Given the description of an element on the screen output the (x, y) to click on. 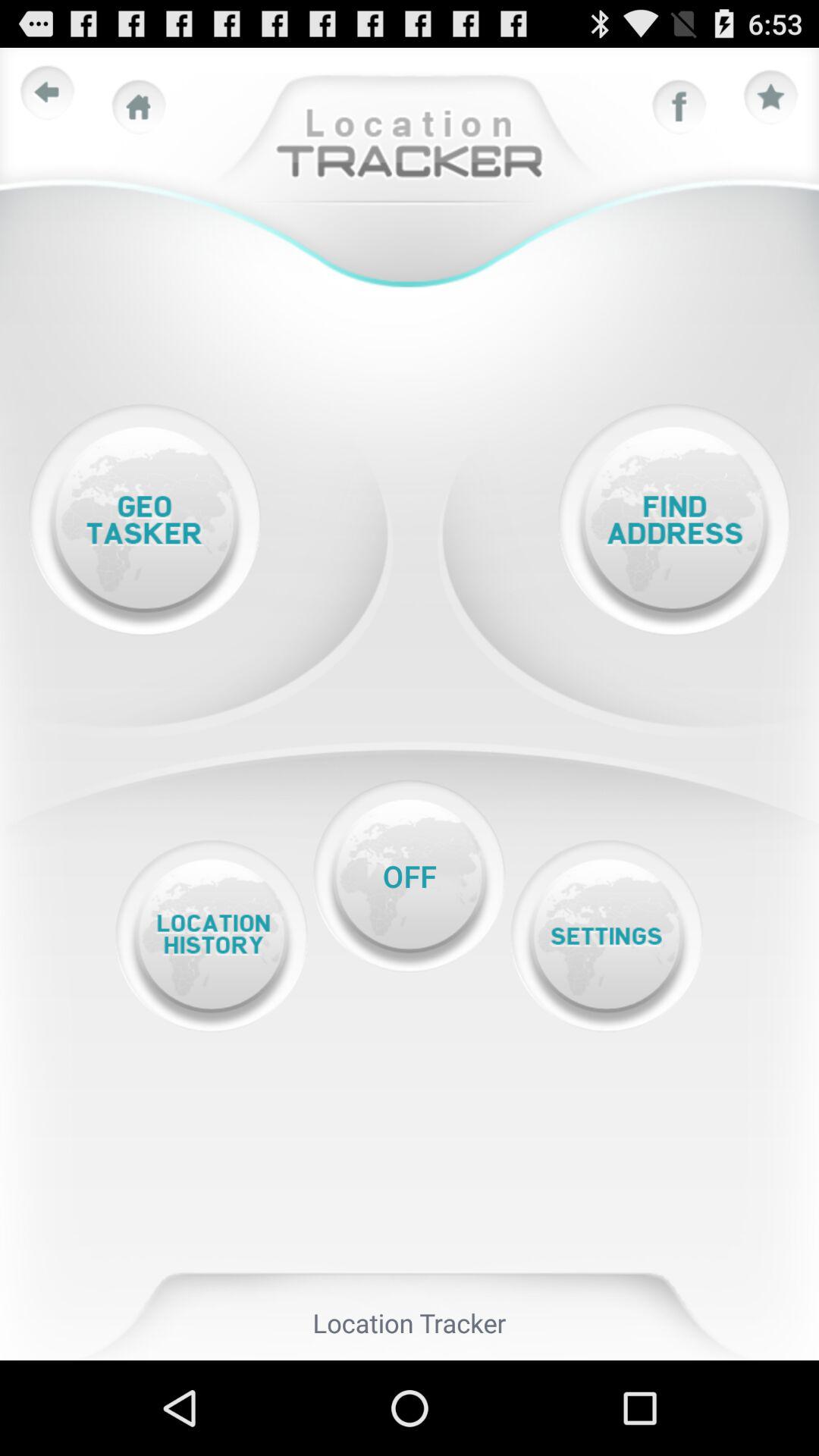
open geo tasker (144, 520)
